Given the description of an element on the screen output the (x, y) to click on. 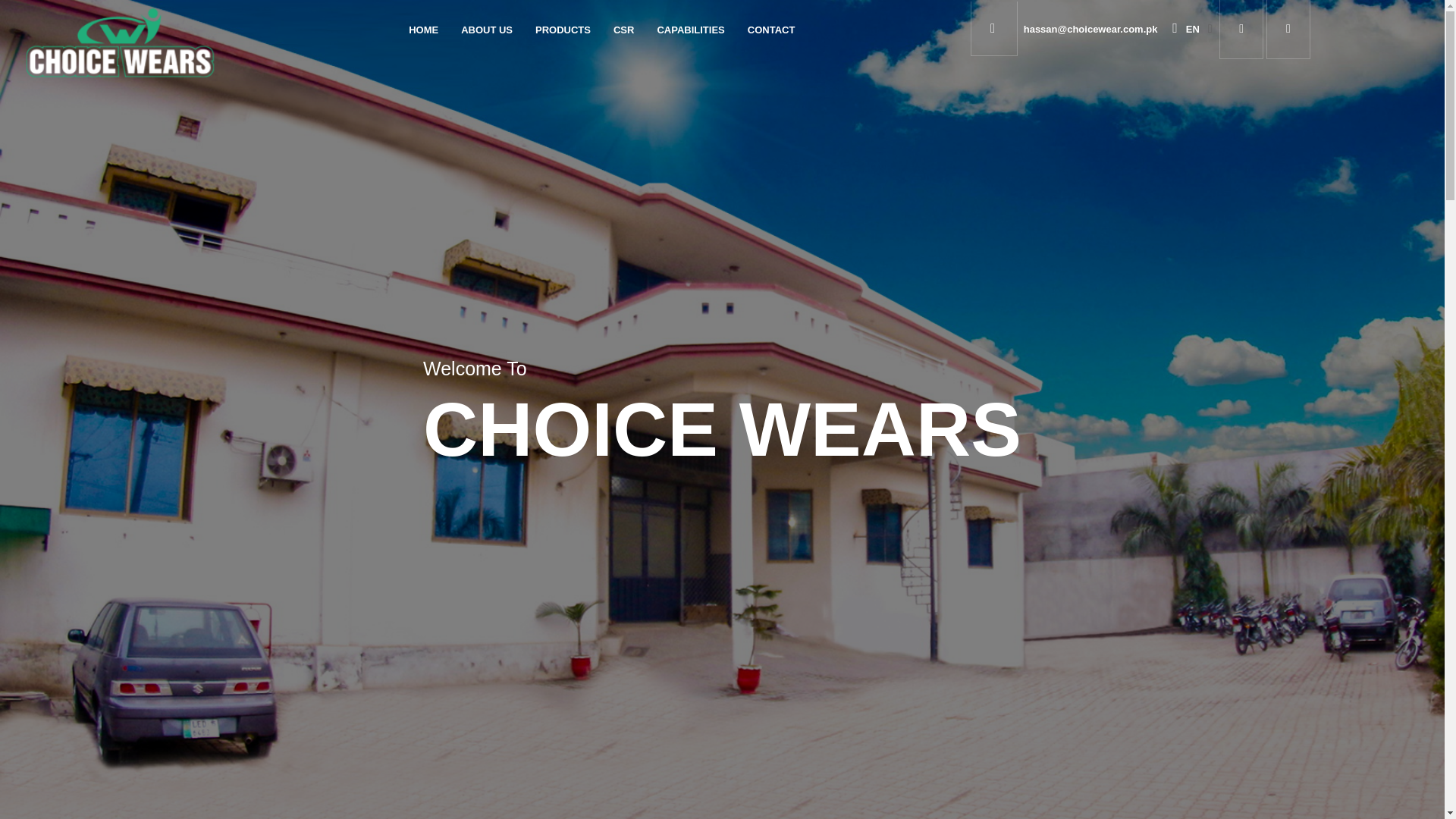
CONTACT (771, 30)
PRODUCTS (563, 30)
CSR (623, 30)
HOME (423, 30)
ABOUT US (486, 30)
CAPABILITIES (690, 30)
